Given the description of an element on the screen output the (x, y) to click on. 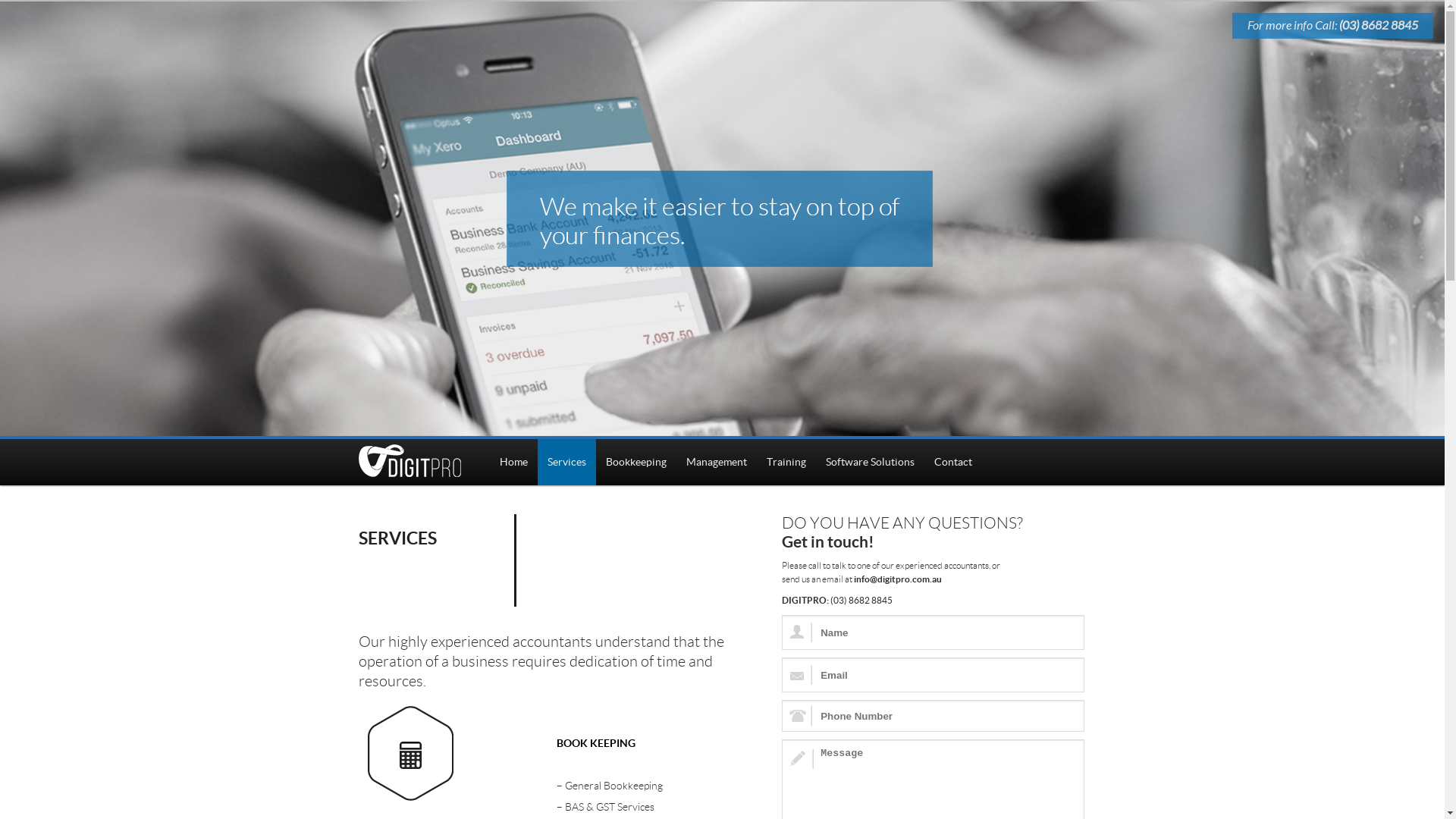
Skip to primary content Element type: text (507, 464)
Management Element type: text (716, 462)
Contact Element type: text (953, 462)
Home Element type: text (513, 462)
Skip to secondary content Element type: text (515, 464)
SERVICES Element type: text (396, 537)
Bookkeeping Element type: text (636, 462)
Services Element type: text (566, 462)
Software Solutions Element type: text (869, 462)
Training Element type: text (785, 462)
